Given the description of an element on the screen output the (x, y) to click on. 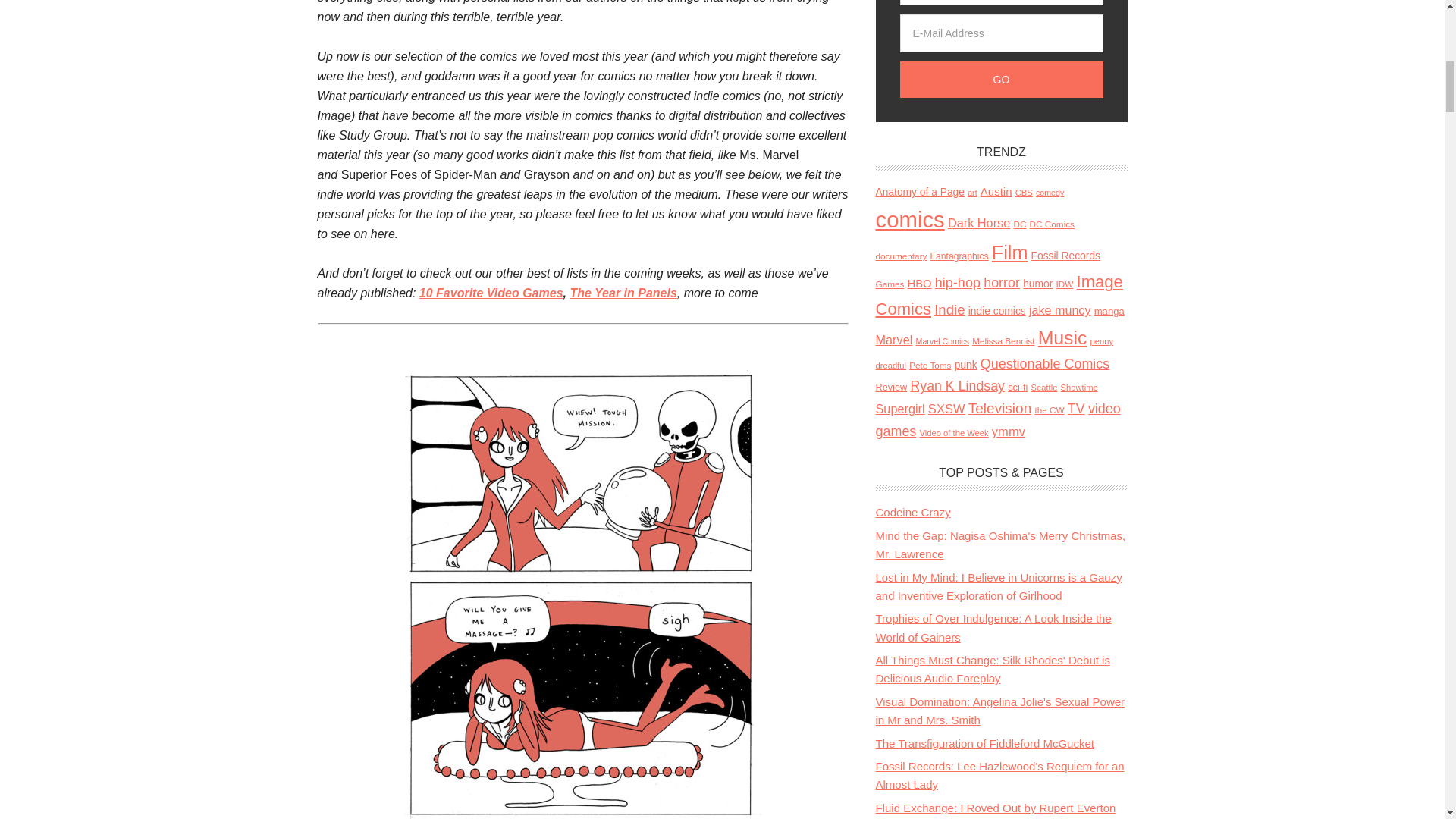
Go (1000, 79)
The Year in Panels (623, 292)
10 Favorite Video Games (491, 292)
